Given the description of an element on the screen output the (x, y) to click on. 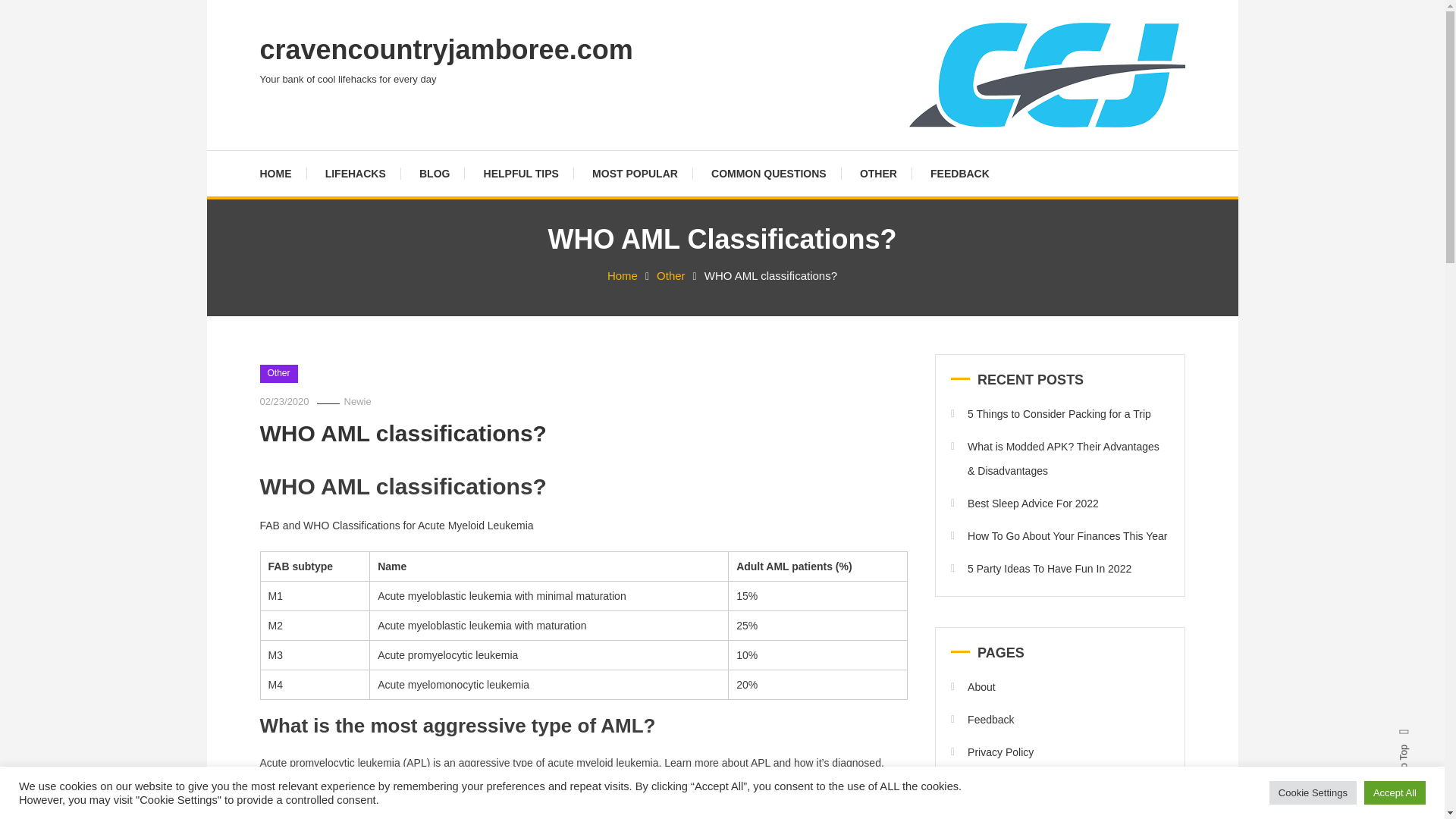
HELPFUL TIPS (520, 173)
MOST POPULAR (634, 173)
OTHER (878, 173)
Twitter (5, 87)
LIFEHACKS (355, 173)
BLOG (434, 173)
5 Things to Consider Packing for a Trip (1050, 413)
Reddit (5, 93)
Messenger (5, 111)
Other (278, 373)
COMMON QUESTIONS (768, 173)
Facebook (5, 81)
FEEDBACK (959, 173)
Other (670, 275)
cravencountryjamboree.com (445, 49)
